Given the description of an element on the screen output the (x, y) to click on. 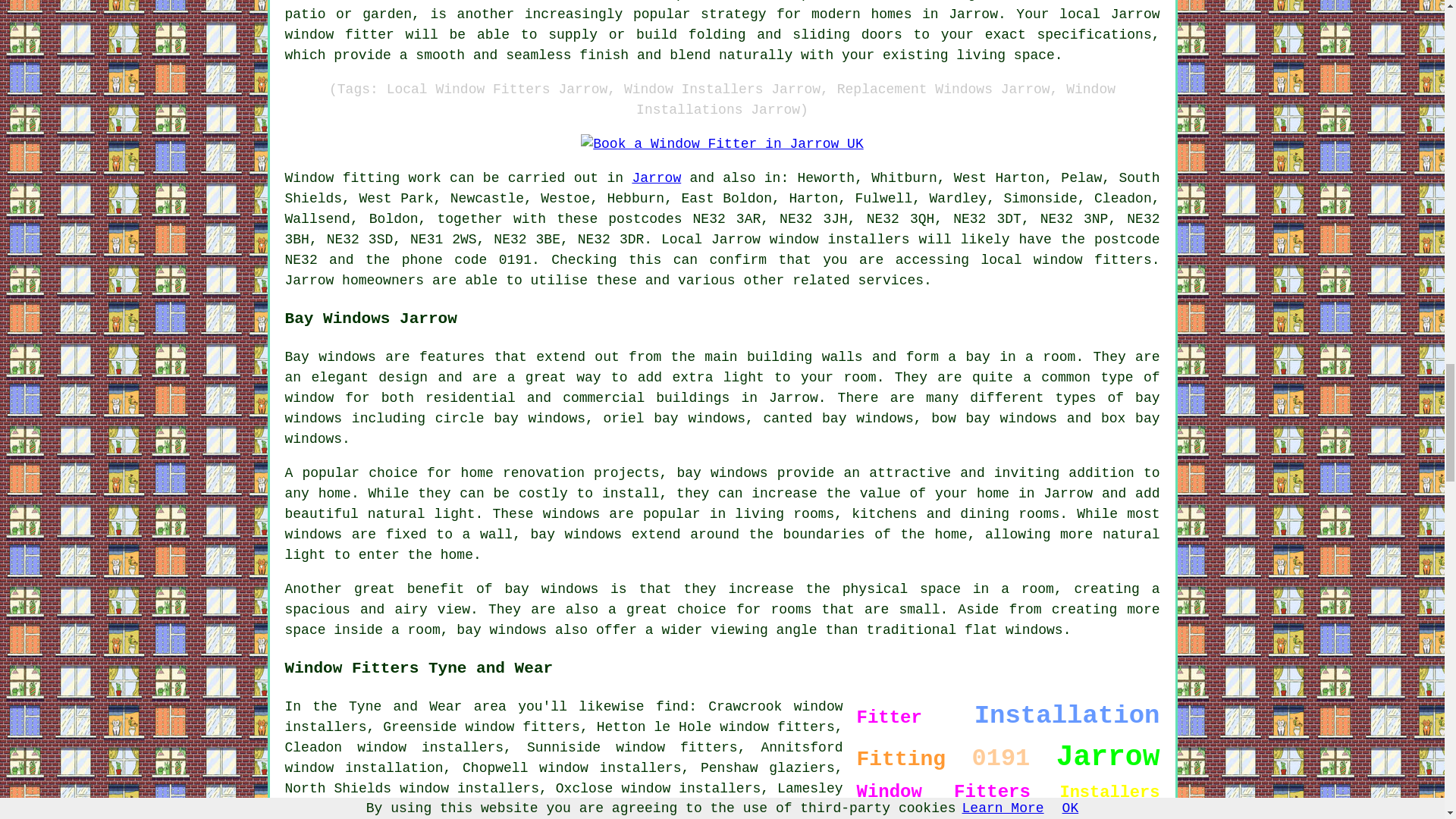
window fitters (675, 747)
window installers (690, 788)
Book a Window Fitter in Jarrow UK (721, 144)
